Given the description of an element on the screen output the (x, y) to click on. 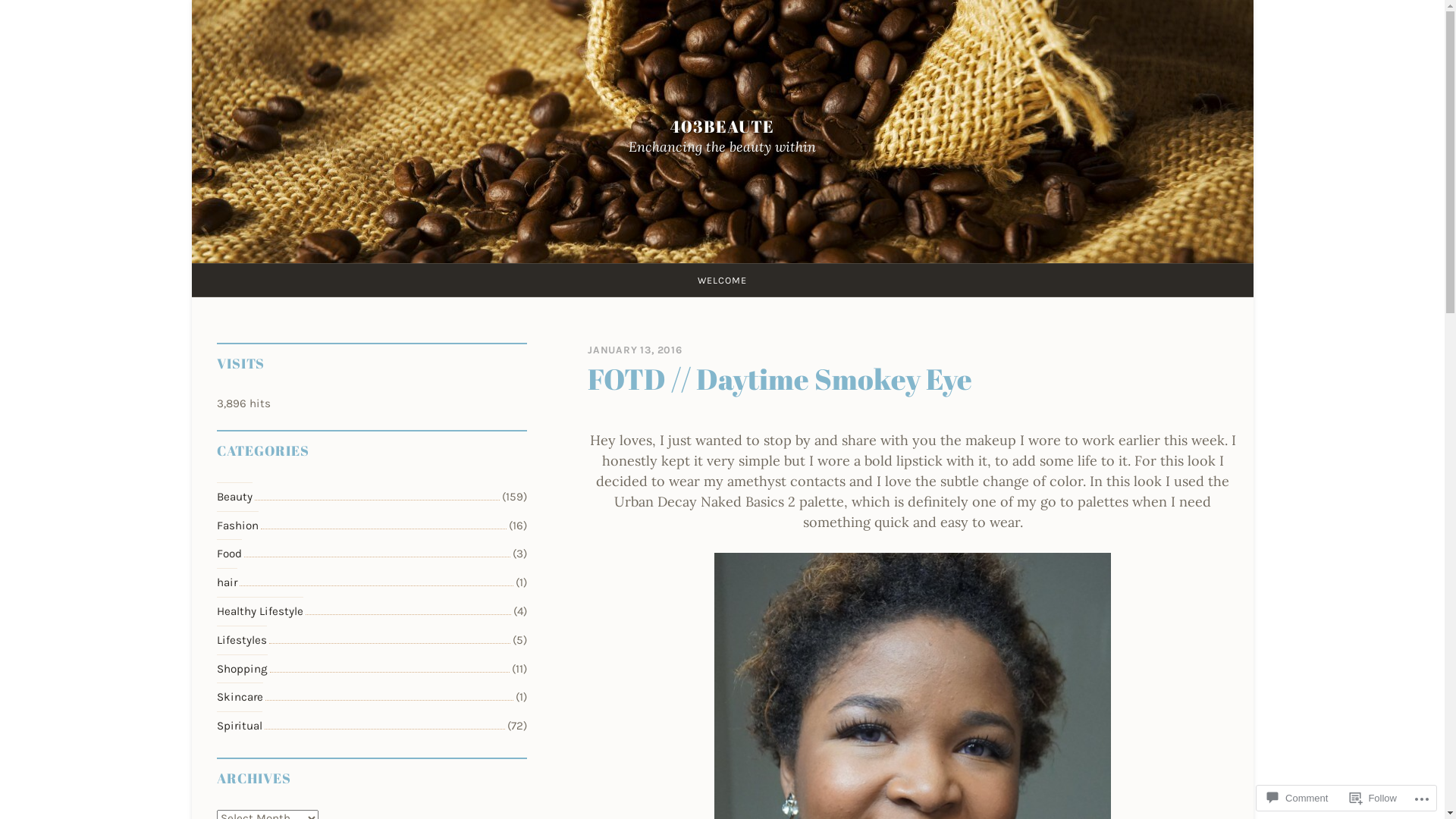
Beauty Element type: text (234, 496)
Follow Element type: text (1372, 797)
Lifestyles Element type: text (241, 639)
Healthy Lifestyle Element type: text (259, 610)
Food Element type: text (228, 553)
hair Element type: text (226, 581)
Fashion Element type: text (237, 525)
Skincare Element type: text (239, 696)
Shopping Element type: text (241, 668)
Spiritual Element type: text (239, 725)
WELCOME Element type: text (722, 279)
Comment Element type: text (1297, 797)
403BEAUTE Element type: text (722, 126)
JANUARY 13, 2016 Element type: text (634, 349)
